Given the description of an element on the screen output the (x, y) to click on. 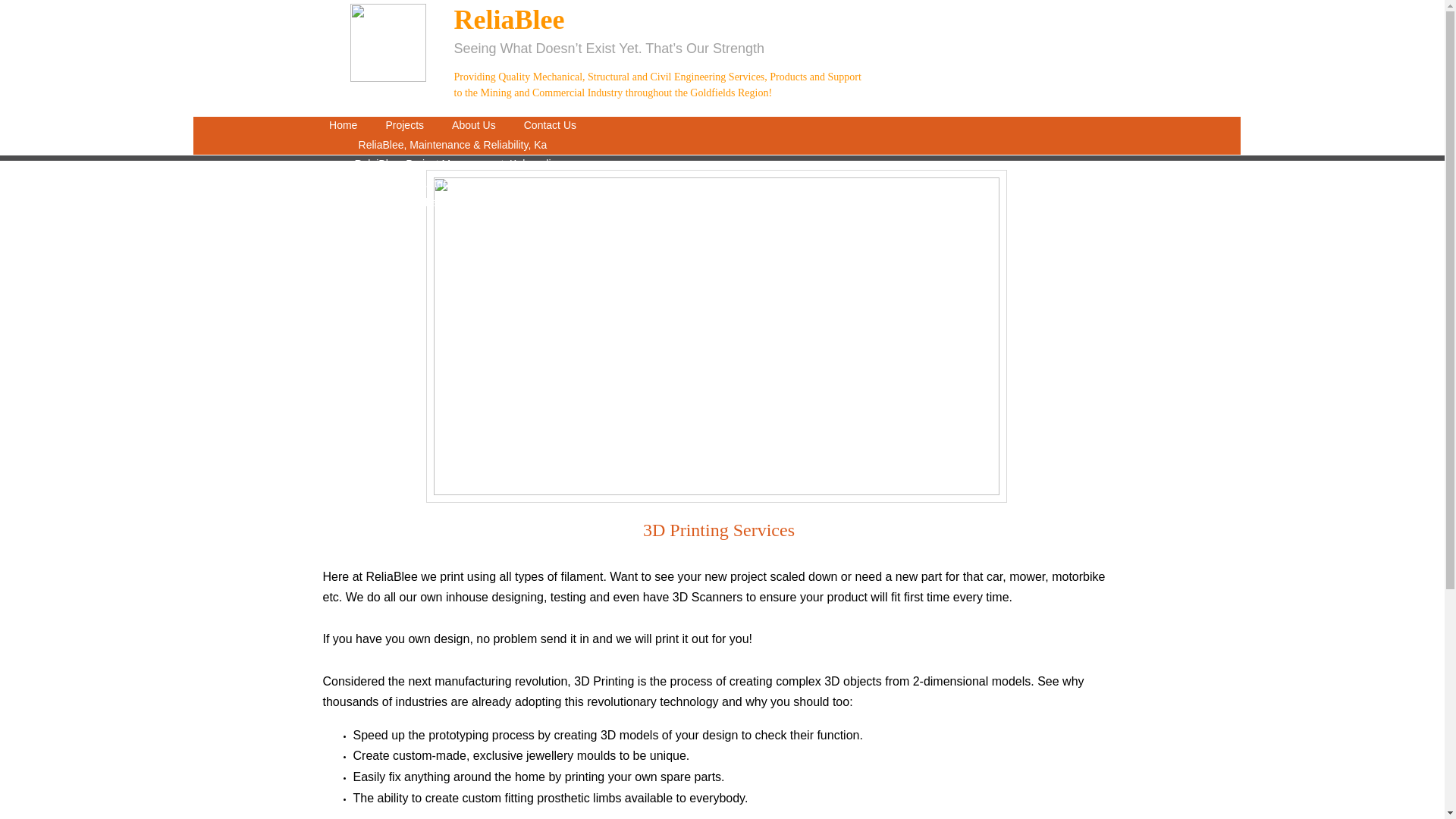
RelaiBlee, Project Management, Kalgoorli (453, 164)
RelaiBlee, Structural Engineering, Kalgo (453, 184)
Projects (404, 125)
Home (343, 125)
About Us (474, 125)
RelaiBlee, Mechanical Engineering, Kalgo (453, 202)
Contact Us (549, 125)
